Given the description of an element on the screen output the (x, y) to click on. 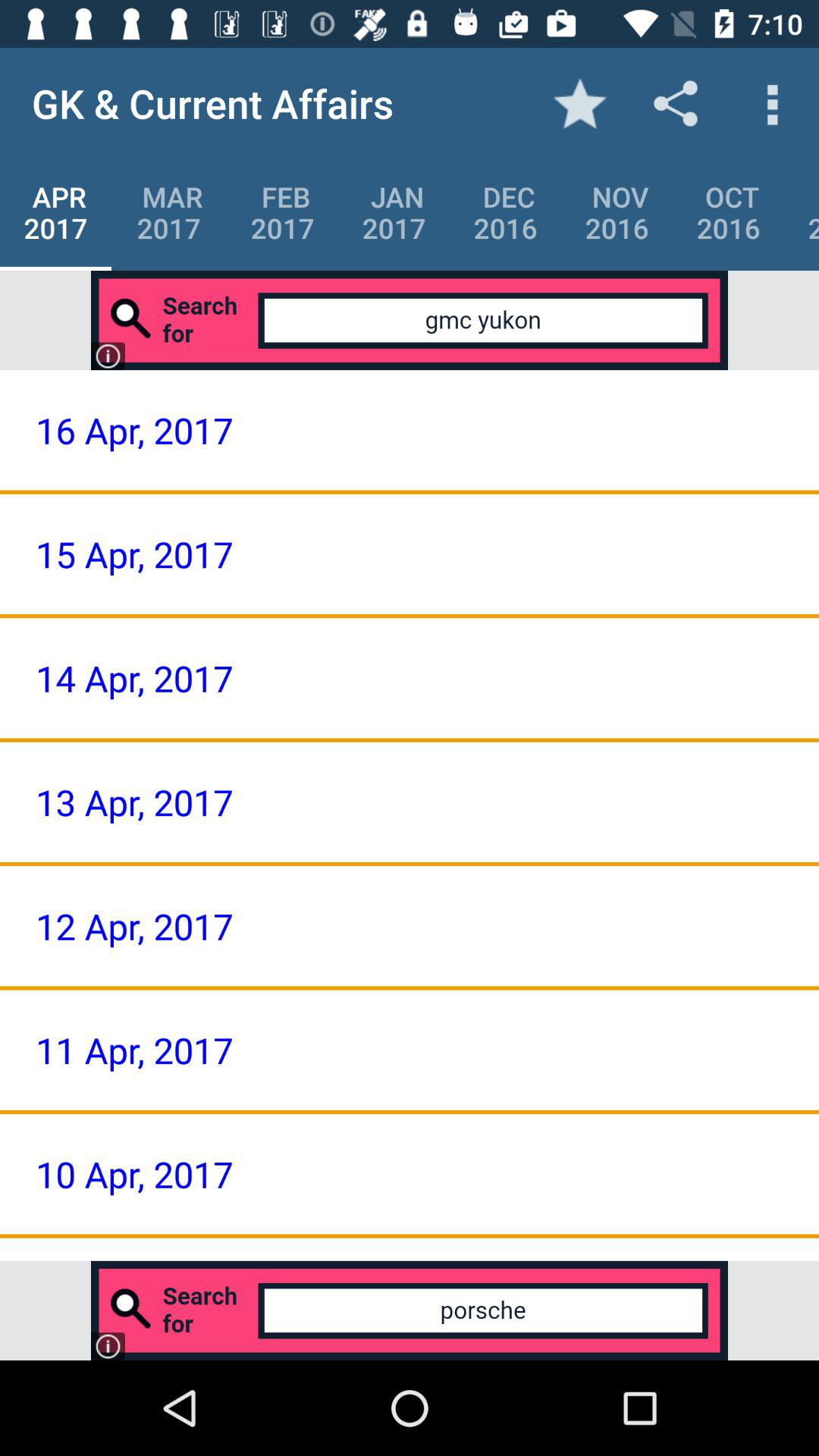
launch icon next to the  dec
2016 icon (393, 212)
